Given the description of an element on the screen output the (x, y) to click on. 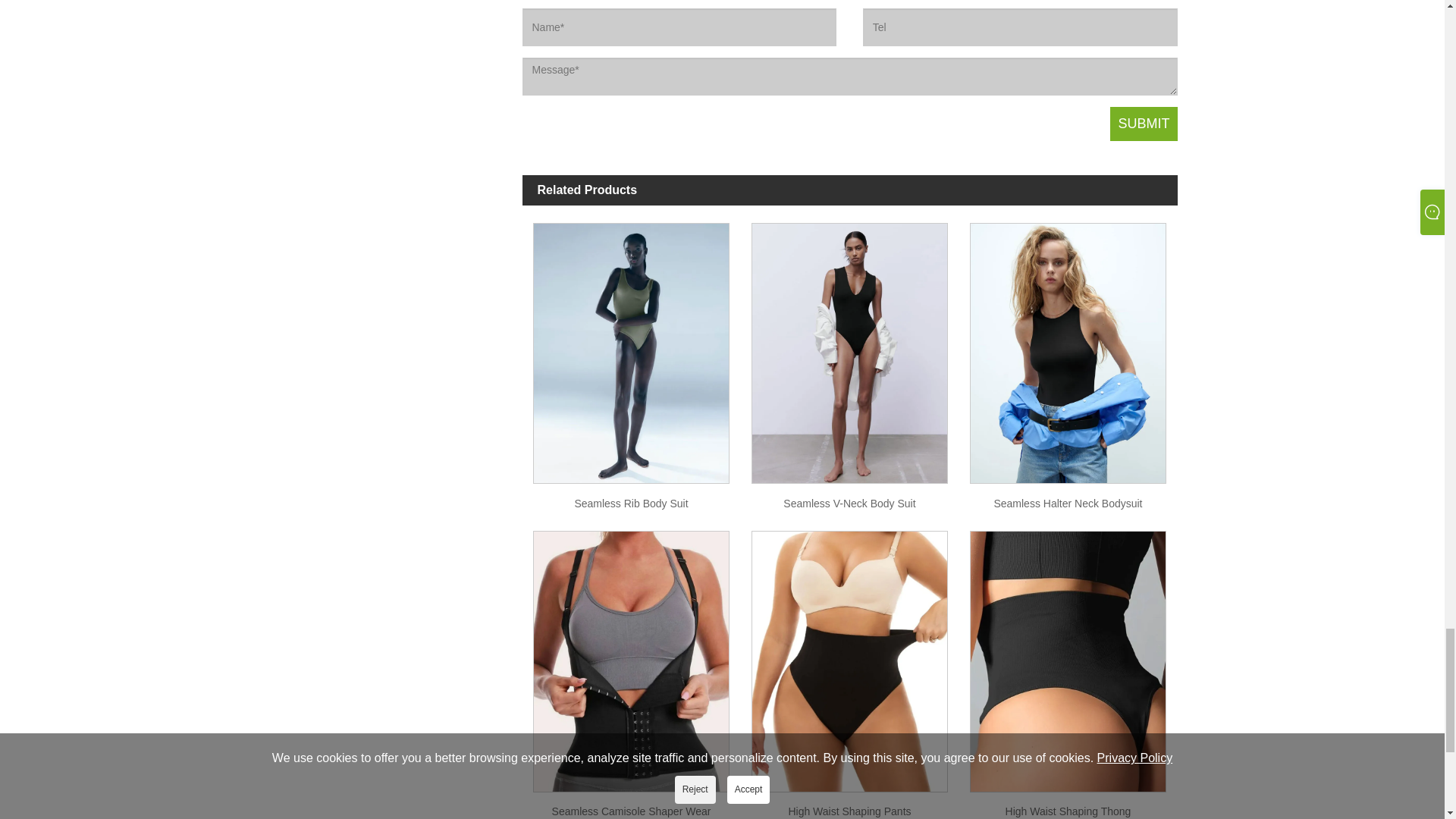
SUBMIT (1142, 123)
